Given the description of an element on the screen output the (x, y) to click on. 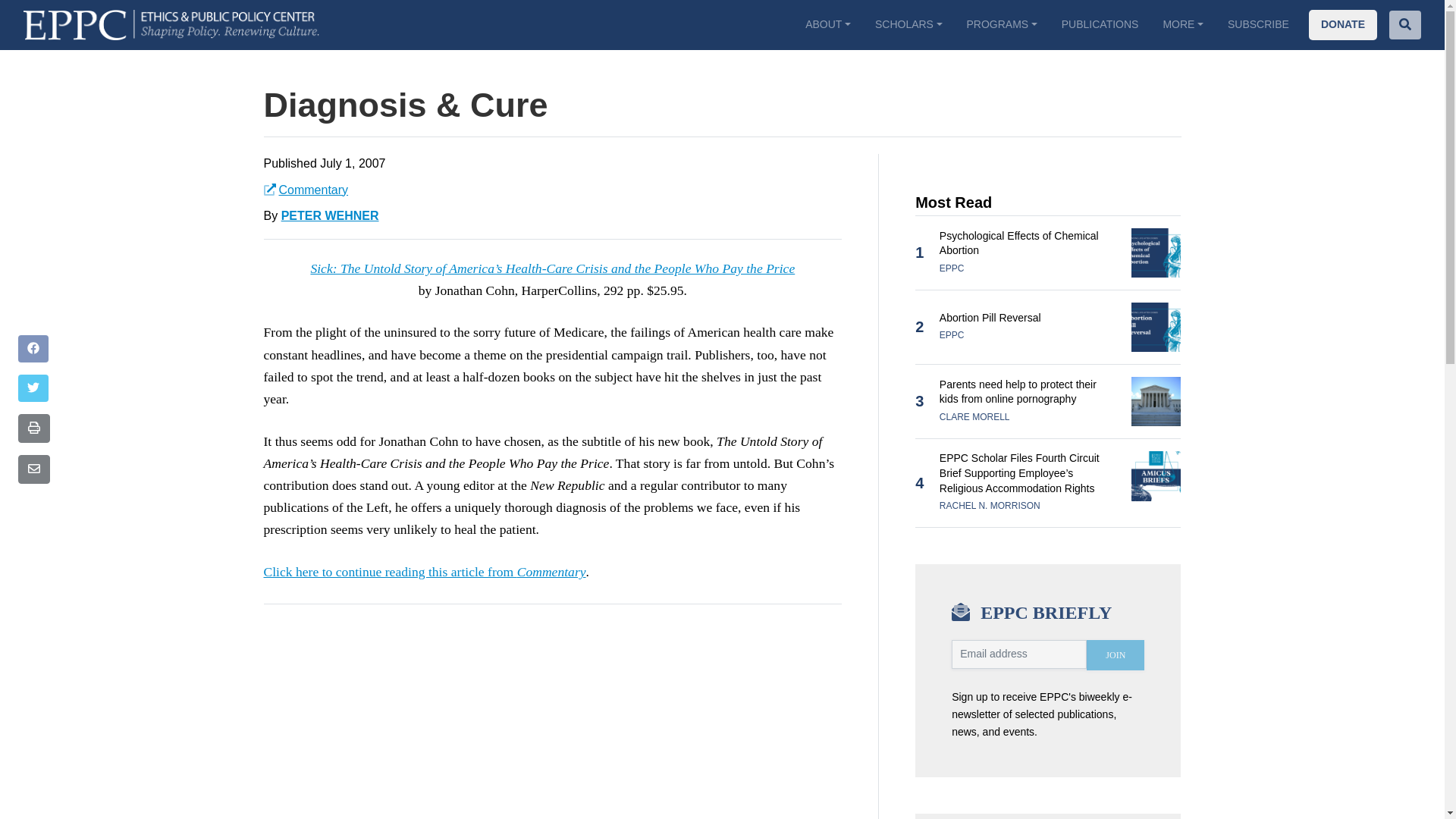
JOIN (1115, 654)
ABOUT (828, 24)
SCHOLARS (909, 24)
